Given the description of an element on the screen output the (x, y) to click on. 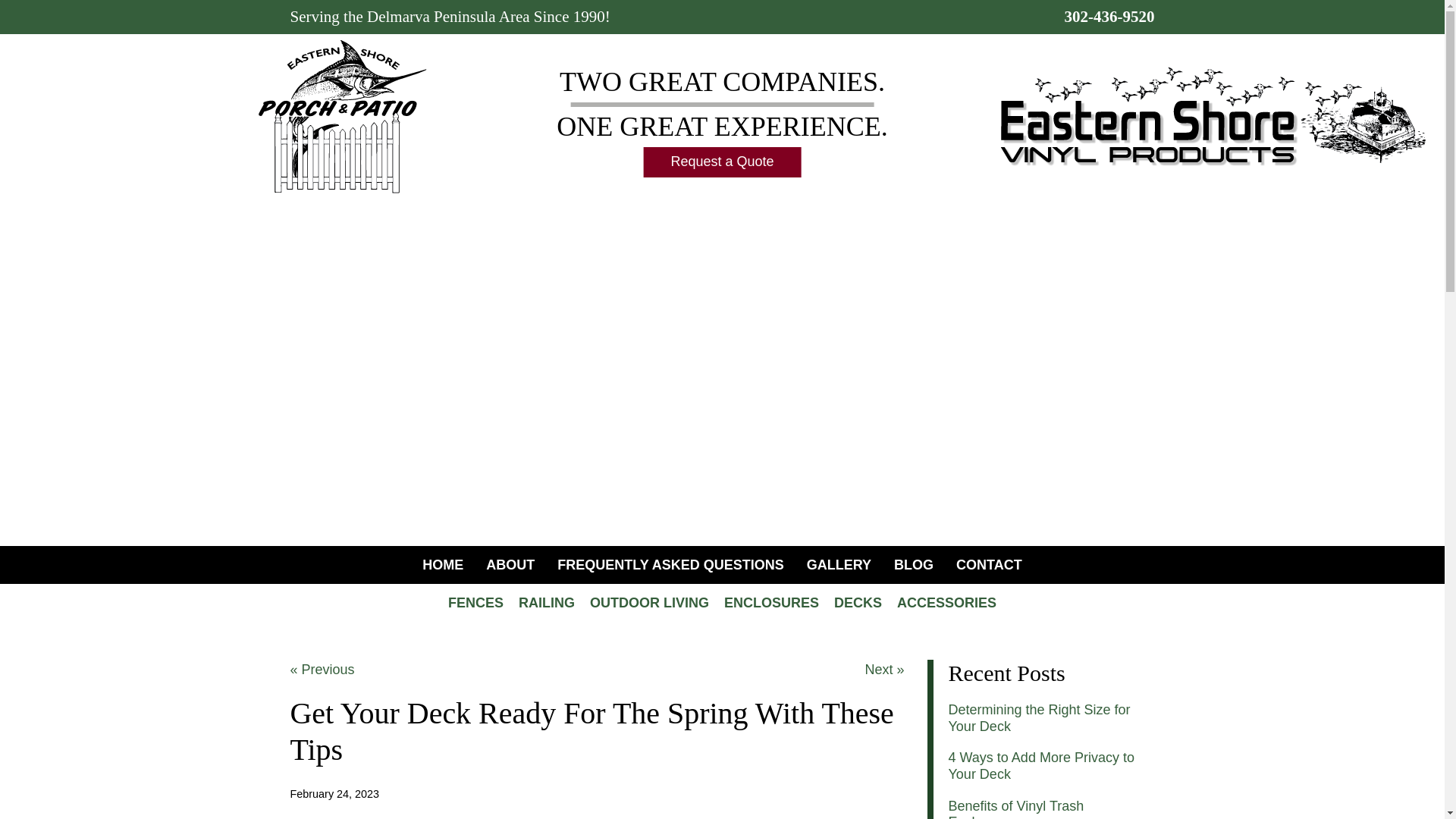
FENCES (476, 602)
Request a Quote (721, 162)
FREQUENTLY ASKED QUESTIONS (670, 564)
HOME (442, 564)
BLOG (913, 564)
GALLERY (838, 564)
ABOUT (510, 564)
CONTACT (988, 564)
RAILING (546, 602)
